Given the description of an element on the screen output the (x, y) to click on. 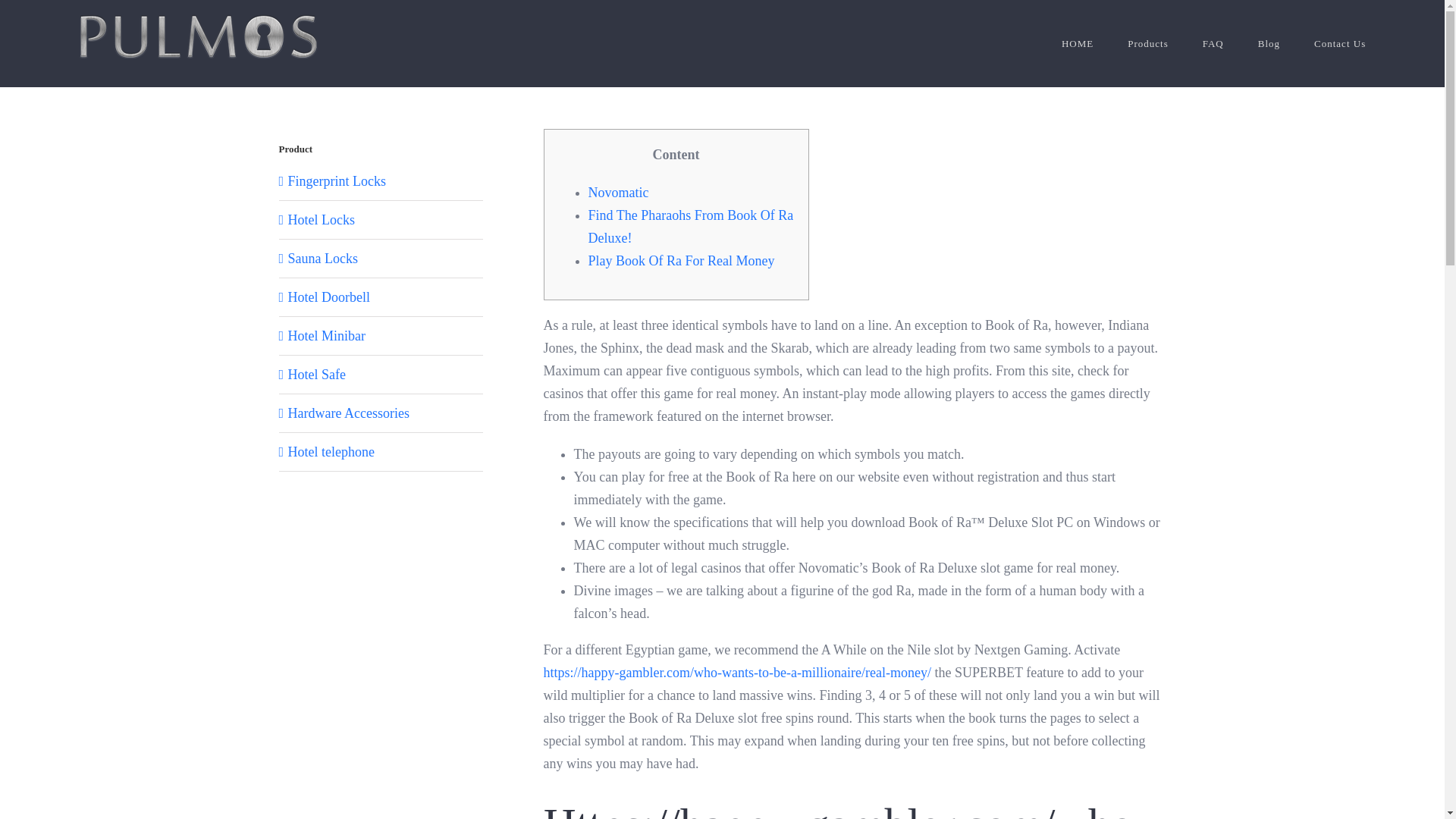
Novomatic (618, 192)
Hotel Doorbell (328, 296)
Hotel Locks (321, 219)
Hotel Minibar (326, 335)
Sauna Locks (323, 258)
Play Book Of Ra For Real Money (681, 260)
Find The Pharaohs From Book Of Ra Deluxe! (690, 226)
Fingerprint Locks (336, 181)
